Given the description of an element on the screen output the (x, y) to click on. 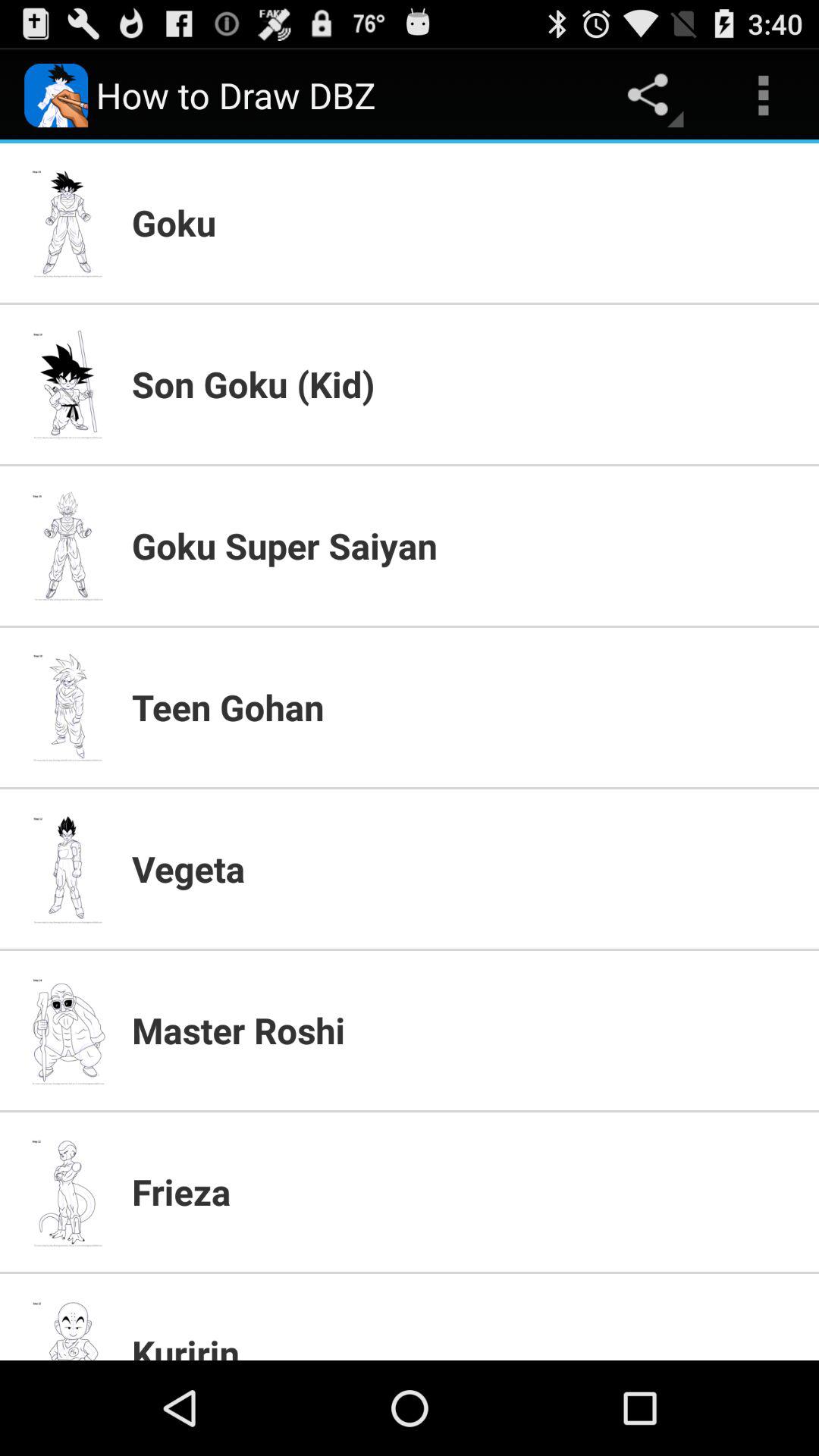
choose the app above the vegeta icon (465, 707)
